Given the description of an element on the screen output the (x, y) to click on. 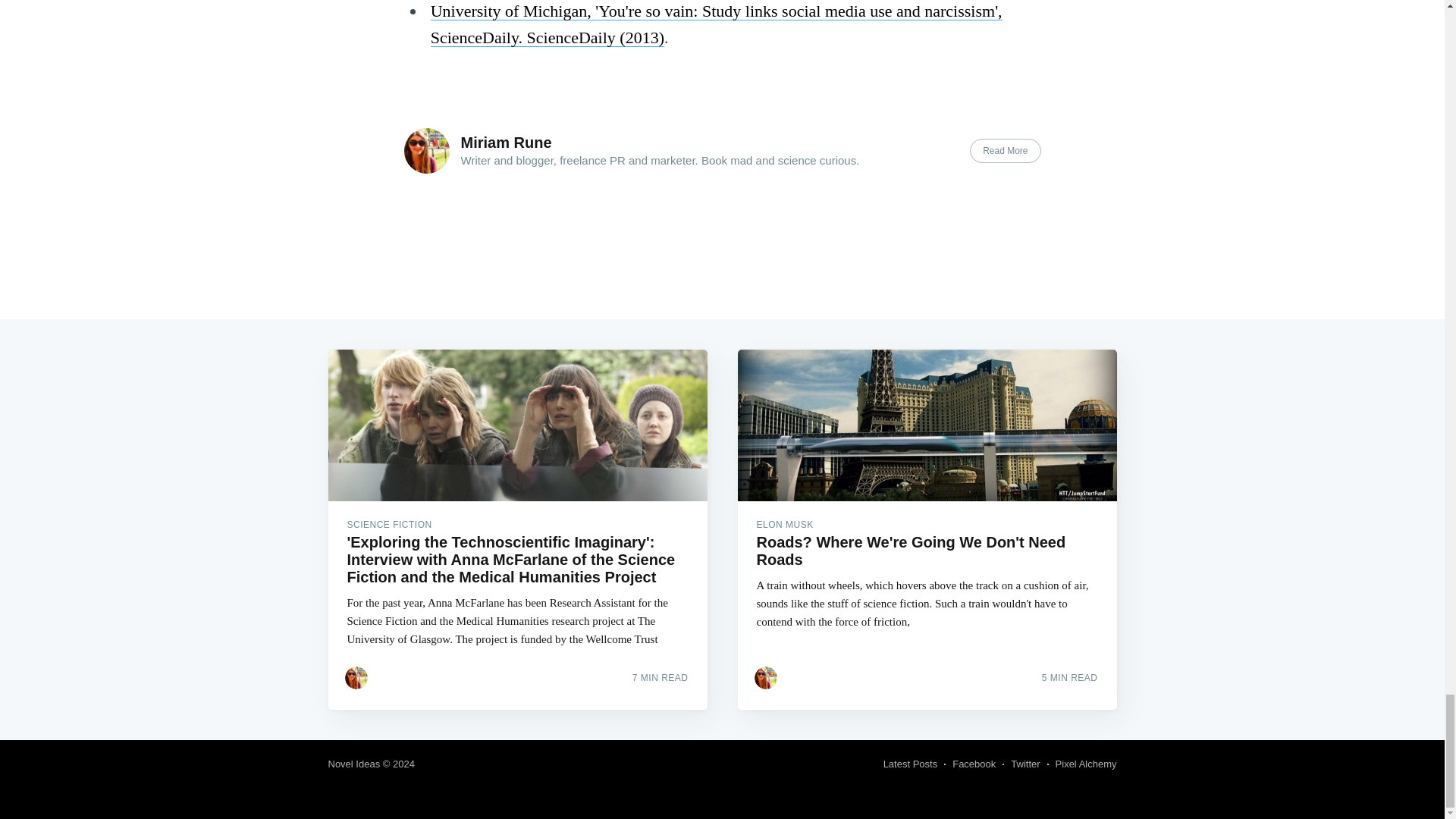
Latest Posts (910, 764)
Twitter (1024, 764)
Pixel Alchemy (1085, 764)
Novel Ideas (353, 763)
Facebook (973, 764)
Miriam Rune (506, 142)
Read More (1005, 150)
